Given the description of an element on the screen output the (x, y) to click on. 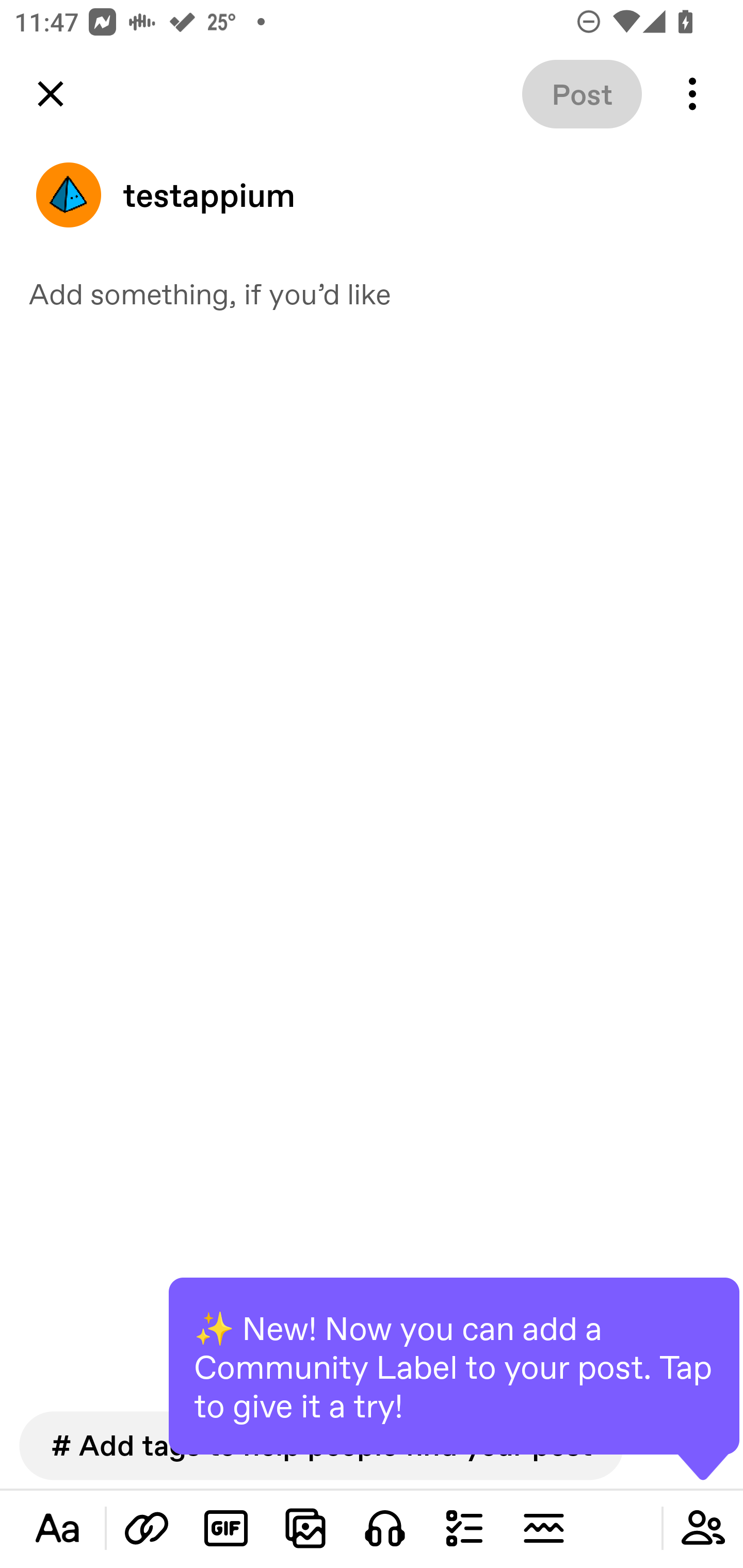
Navigate up (50, 93)
Post (581, 93)
Blog Selector testappium (371, 195)
Add something, if you’d like (371, 293)
Add text to post (57, 1528)
Add text to post (146, 1528)
Add GIF to post (225, 1528)
Add Photo to post (305, 1528)
Add Audio to post (384, 1528)
Add Poll to post (463, 1528)
Add read-more link to post (543, 1528)
Add community label for post (703, 1528)
